Given the description of an element on the screen output the (x, y) to click on. 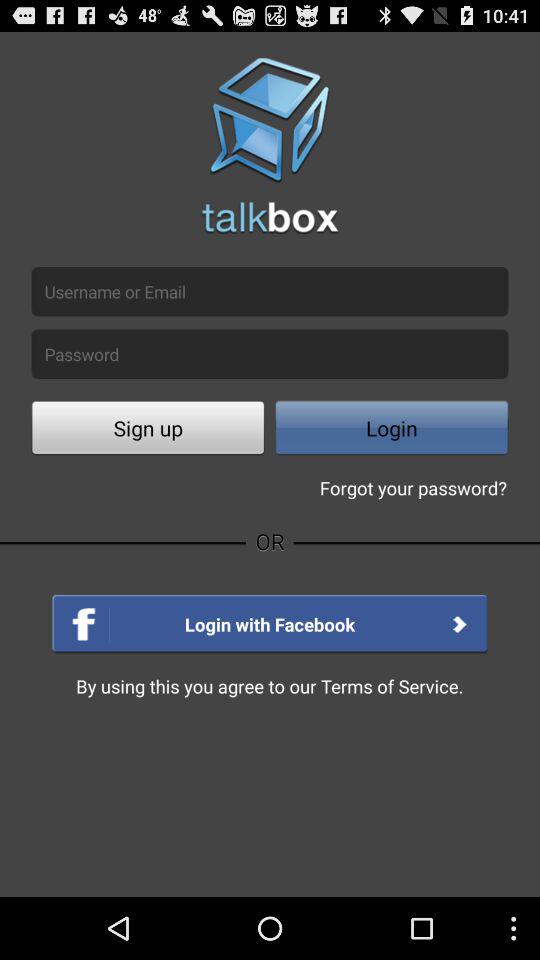
swipe to the by using this icon (269, 685)
